Given the description of an element on the screen output the (x, y) to click on. 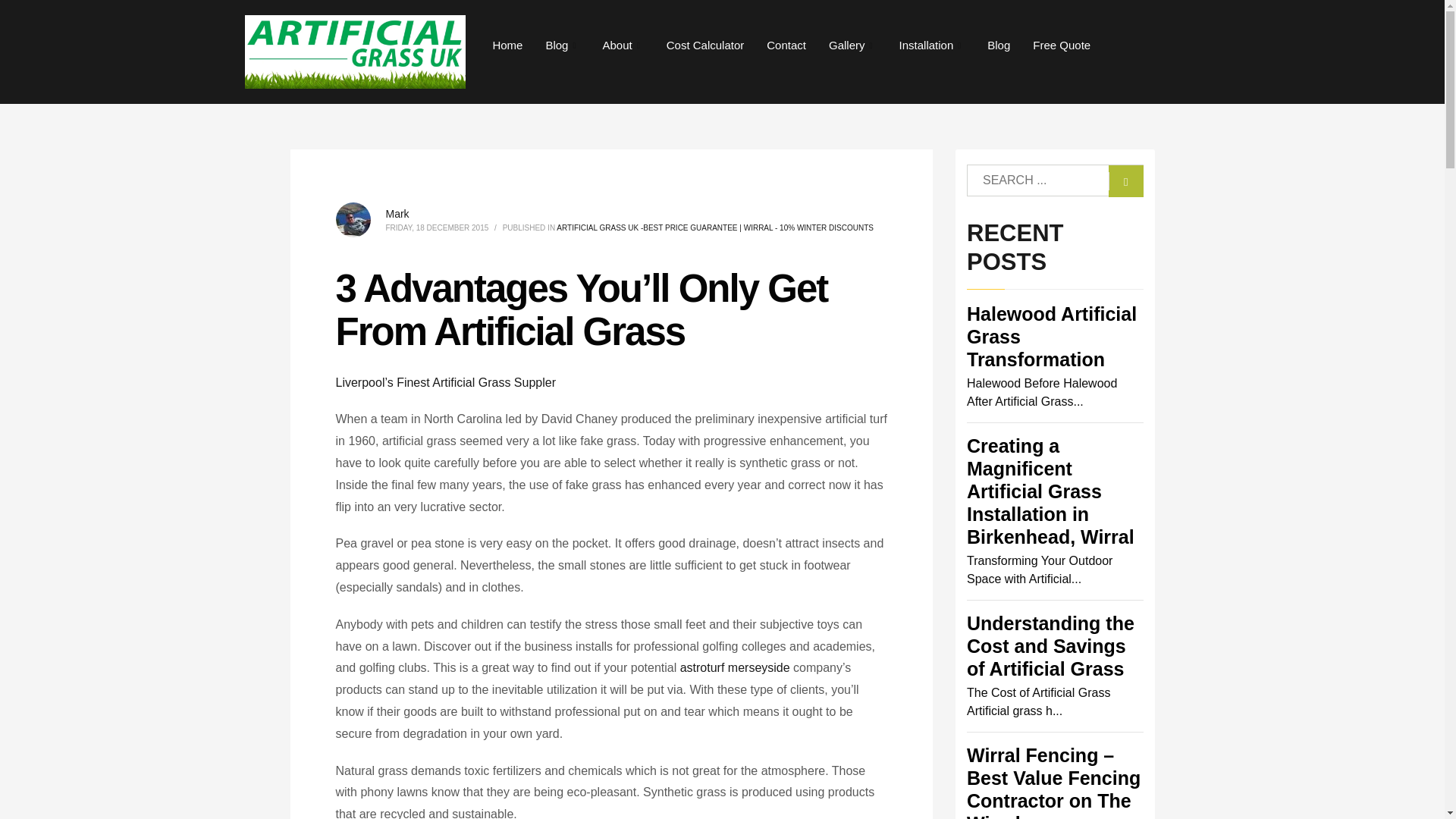
Installation (932, 45)
Cost Calculator (705, 45)
Contact (785, 45)
Halewood Artificial Grass Transformation (1051, 336)
About (623, 45)
Understanding the Cost and Savings of Artificial Grass (1050, 645)
Gallery (852, 45)
Posts by Mark (397, 214)
Blog (562, 45)
